Given the description of an element on the screen output the (x, y) to click on. 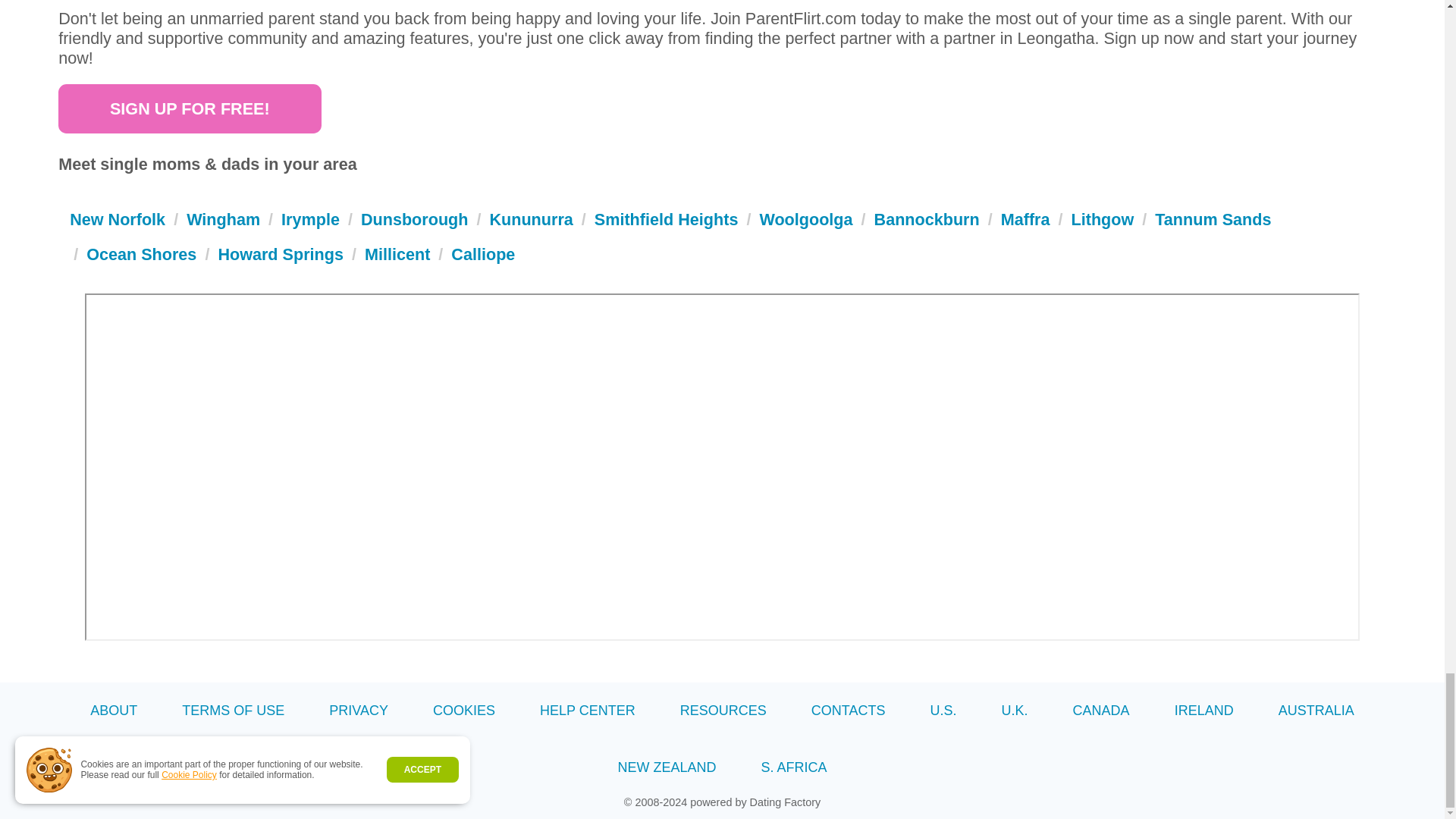
New Norfolk (117, 219)
Bannockburn (927, 219)
SIGN UP FOR FREE! (189, 108)
New Norfolk (117, 219)
Ocean Shores (140, 253)
Calliope (483, 253)
Tannum Sands (1212, 219)
Millicent (397, 253)
Irymple (310, 219)
Howard Springs (279, 253)
